Given the description of an element on the screen output the (x, y) to click on. 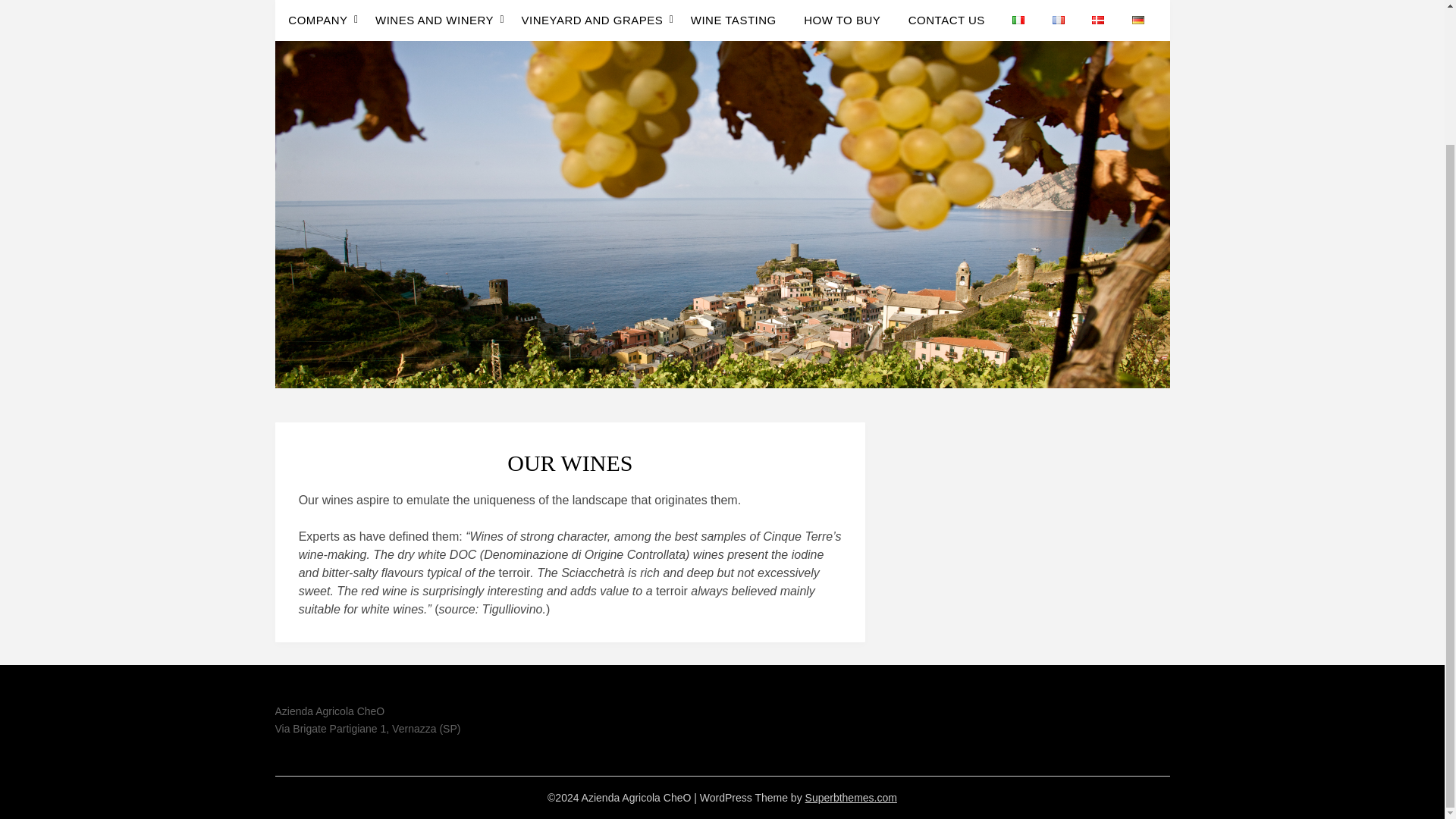
COMPANY (323, 20)
Superbthemes.com (850, 797)
CONTACT US (946, 20)
WINE TASTING (733, 20)
WINES AND WINERY (433, 20)
HOW TO BUY (842, 20)
VINEYARD AND GRAPES (592, 20)
